Given the description of an element on the screen output the (x, y) to click on. 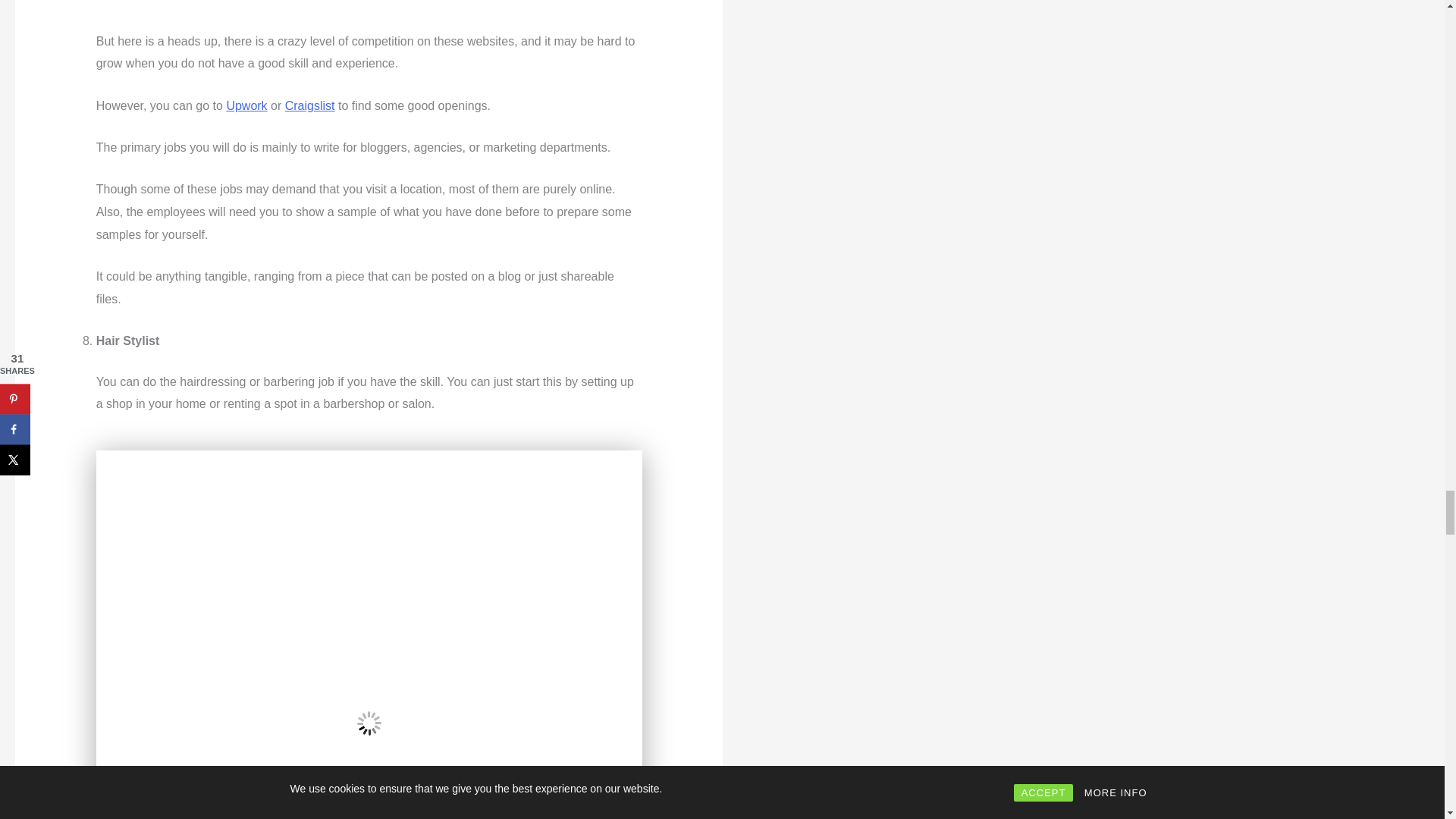
Craigslist (309, 105)
Upwork (245, 105)
